Given the description of an element on the screen output the (x, y) to click on. 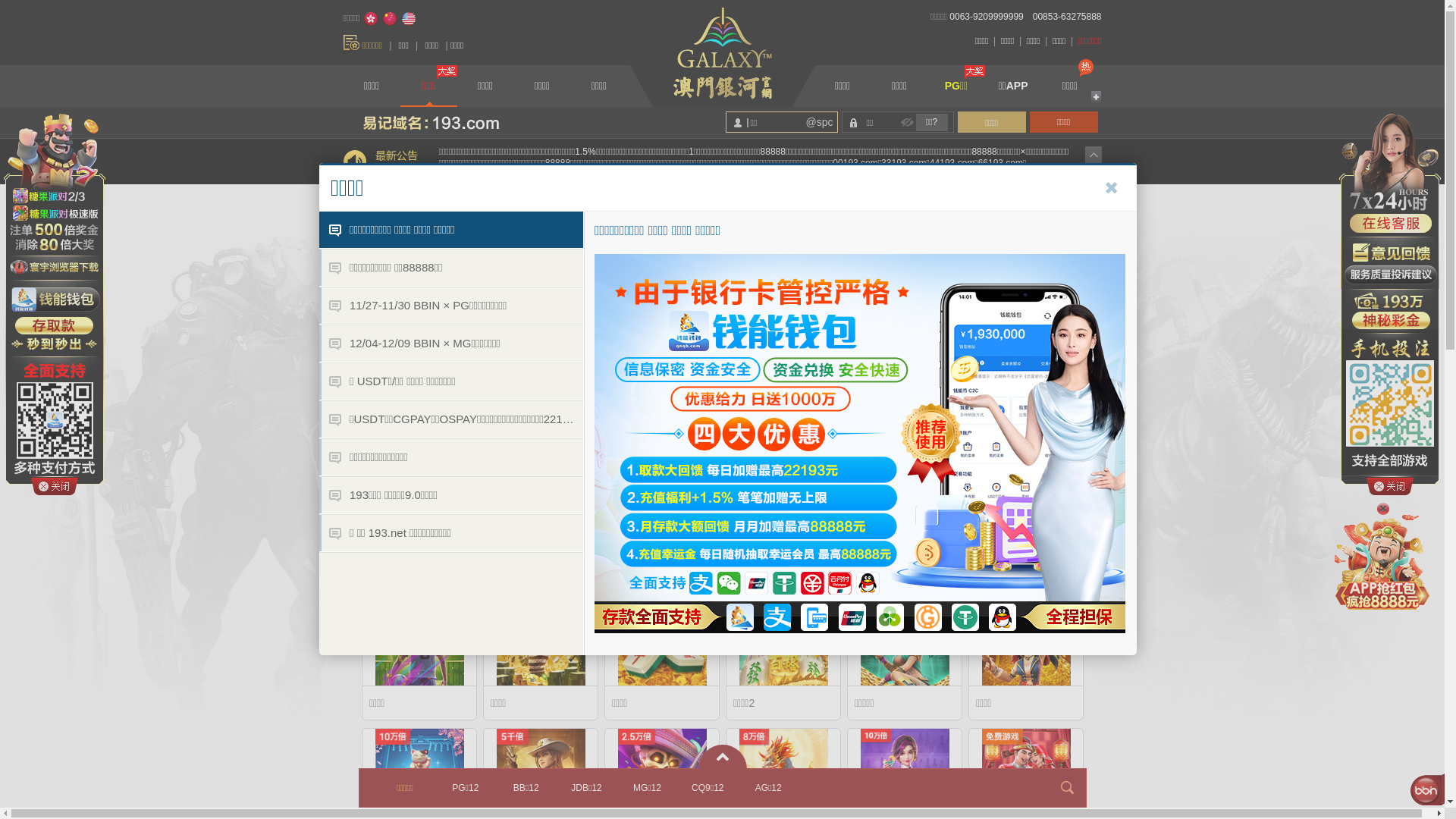
English Element type: hover (408, 18)
